Given the description of an element on the screen output the (x, y) to click on. 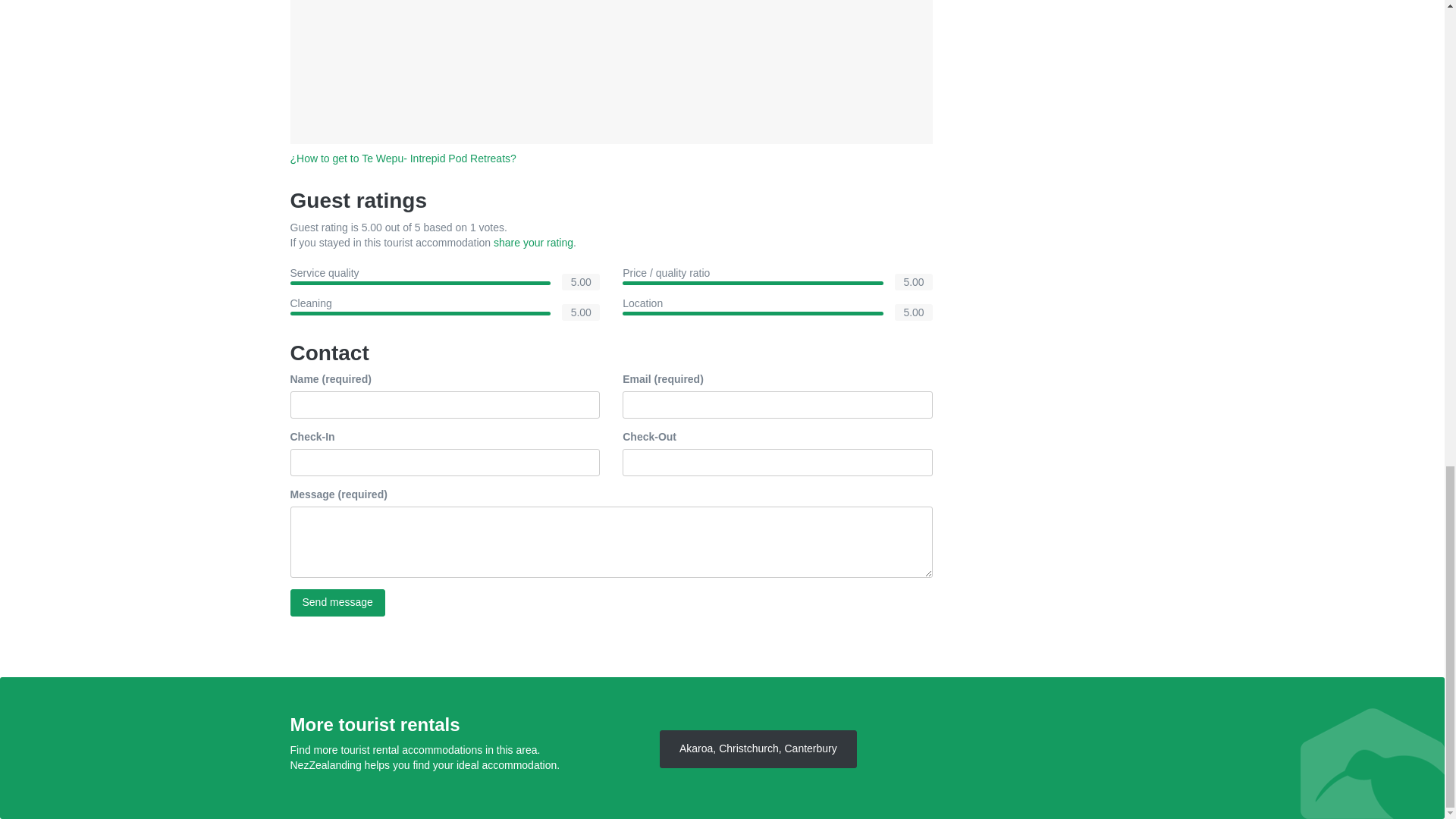
share your rating (533, 242)
Akaroa, Christchurch, Canterbury (758, 749)
Send message (336, 602)
